Given the description of an element on the screen output the (x, y) to click on. 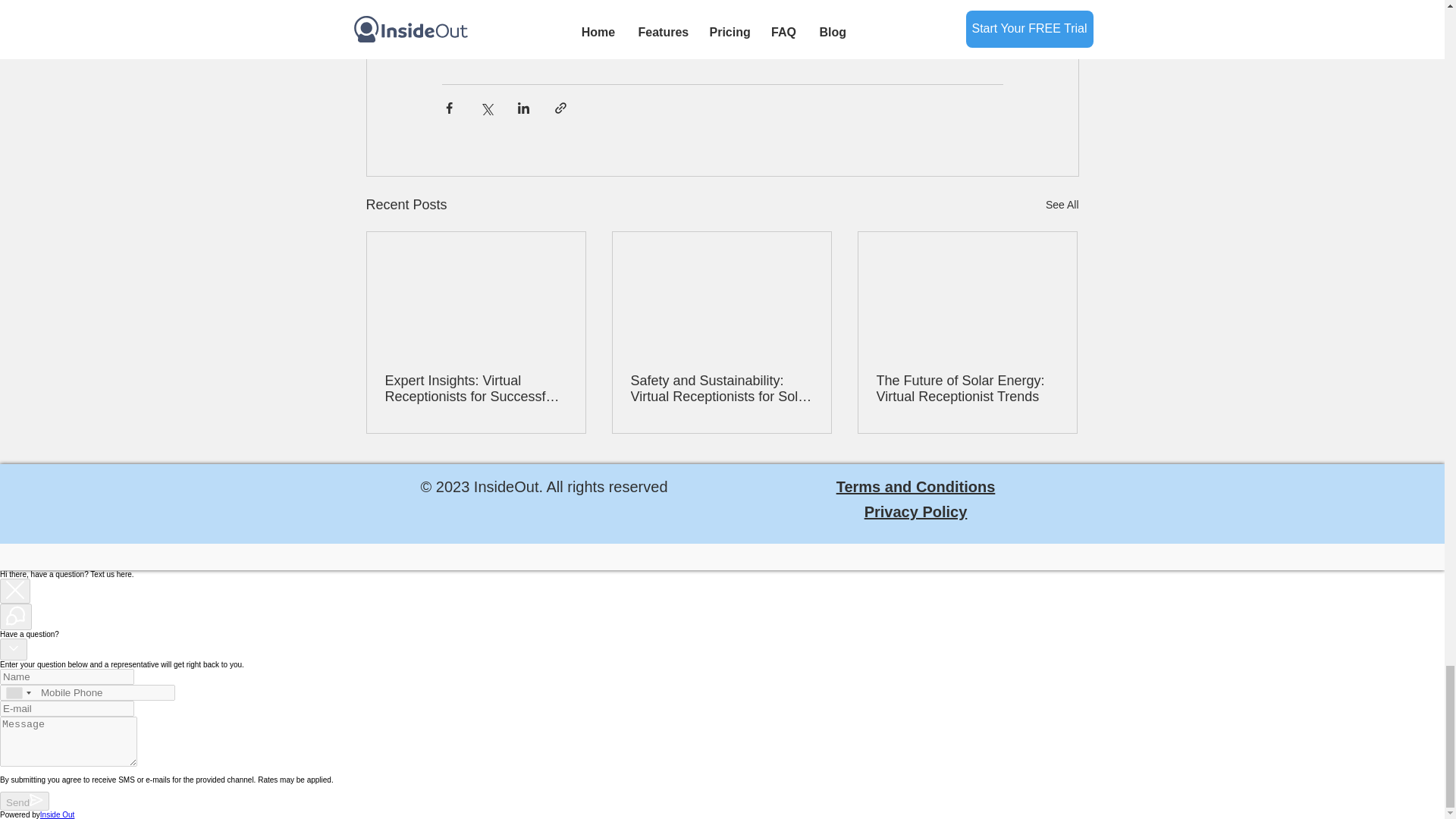
The Future of Solar Energy: Virtual Receptionist Trends (967, 388)
Privacy Policy (916, 511)
Terms and Conditions (915, 486)
See All (1061, 205)
